Given the description of an element on the screen output the (x, y) to click on. 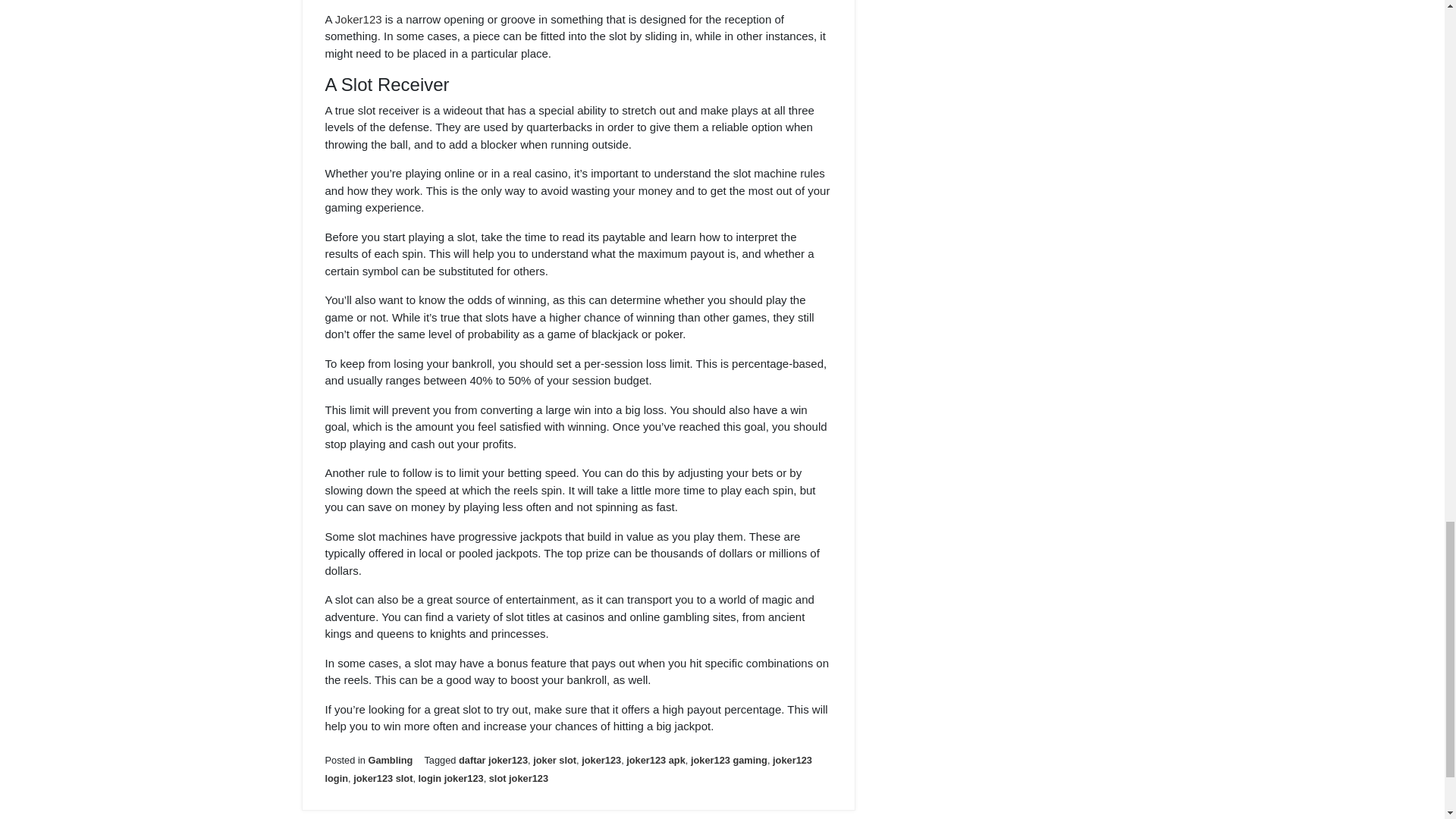
joker123 gaming (728, 759)
daftar joker123 (492, 759)
joker123 slot (382, 778)
Gambling (390, 759)
login joker123 (451, 778)
joker123 (600, 759)
joker123 apk (655, 759)
slot joker123 (518, 778)
Joker123 (357, 19)
joker slot (554, 759)
joker123 login (567, 768)
